Given the description of an element on the screen output the (x, y) to click on. 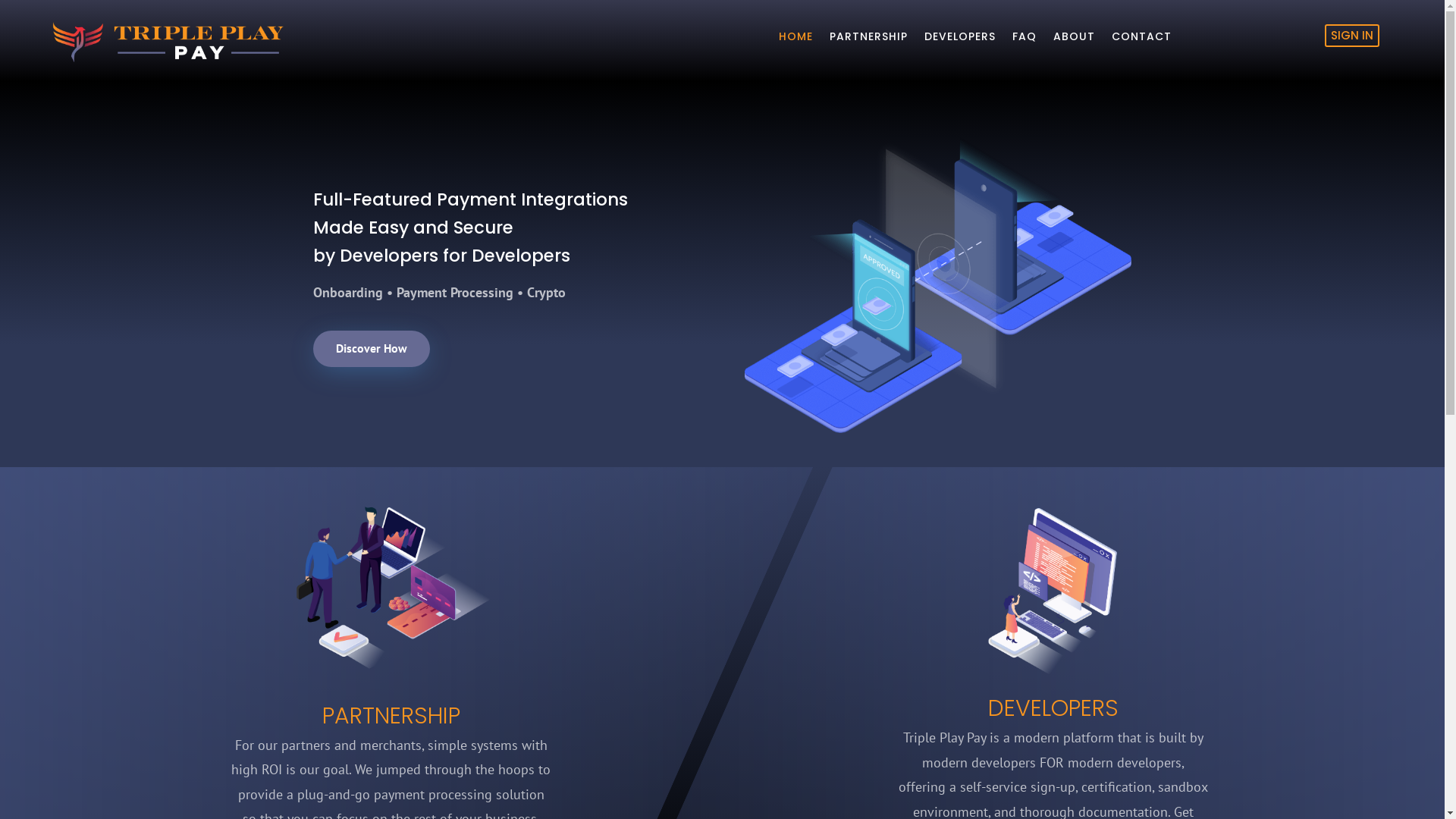
DEVELOPERS Element type: text (959, 39)
Discover How Element type: text (370, 348)
PARTNERSHIP Element type: text (868, 39)
HOME Element type: text (795, 39)
finance-illustration-04 Element type: hover (937, 284)
CONTACT Element type: text (1141, 39)
TPP_logo_reversed_horz3 Element type: hover (153, 39)
ABOUT Element type: text (1074, 39)
FAQ Element type: text (1024, 39)
DEVELOPERS Element type: text (1053, 708)
SIGN IN Element type: text (1351, 35)
PARTNERSHIP Element type: text (391, 715)
